Given the description of an element on the screen output the (x, y) to click on. 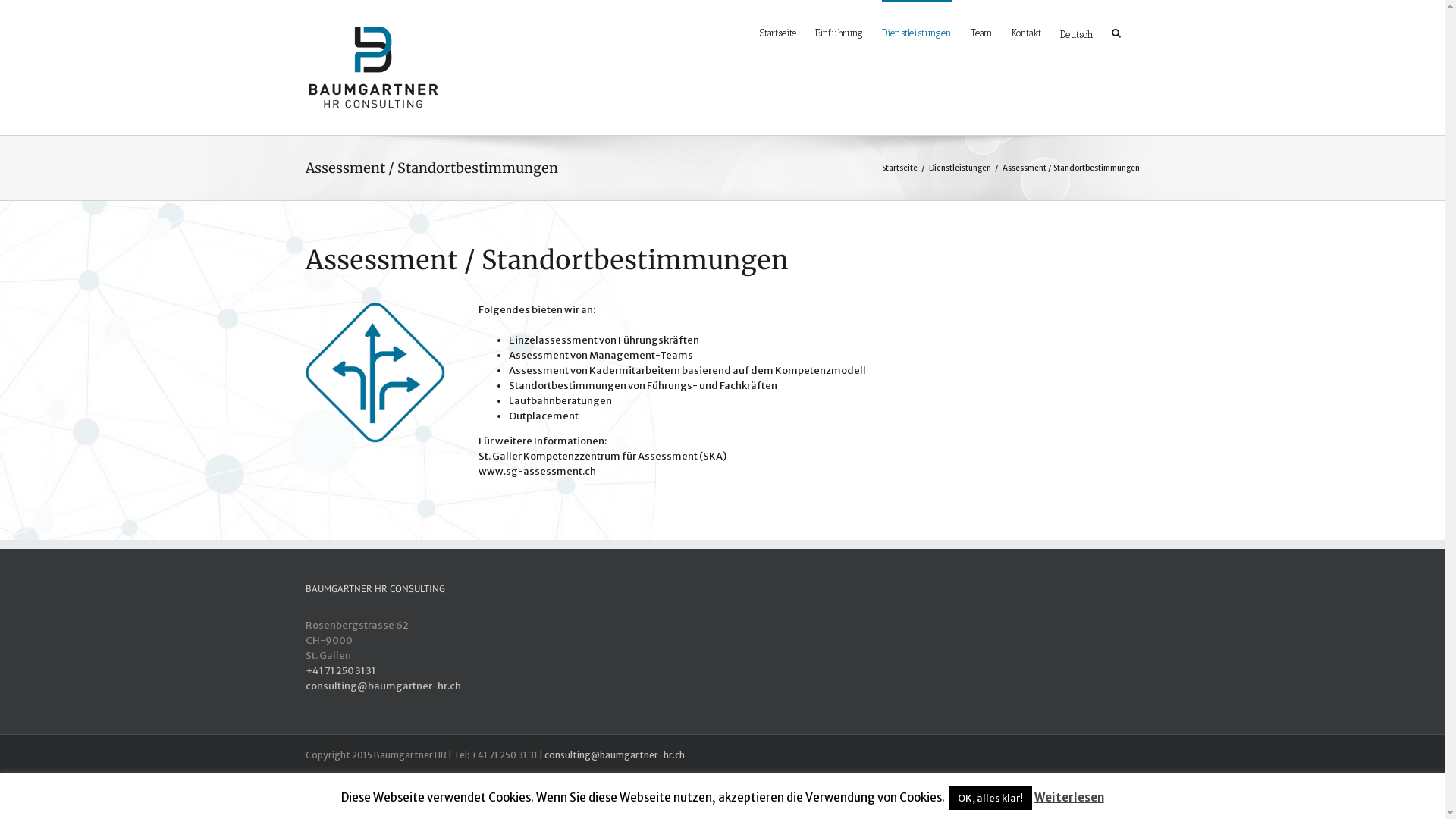
consulting@baumgartner-hr.ch Element type: text (614, 754)
Dienstleistungen Element type: text (959, 167)
Startseite Element type: text (777, 31)
Team Element type: text (981, 31)
Weiterlesen Element type: text (1069, 797)
Suche Element type: hover (1115, 31)
www.sg-assessment.ch Element type: text (537, 470)
Pikto3 Element type: hover (374, 372)
Dienstleistungen Element type: text (915, 31)
Deutsch Element type: text (1076, 32)
+41 71 250 31 31 Element type: text (339, 670)
Kontakt Element type: text (1026, 31)
OK, alles klar! Element type: text (989, 797)
consulting@baumgartner-hr.ch Element type: text (382, 685)
Startseite Element type: text (898, 167)
